Given the description of an element on the screen output the (x, y) to click on. 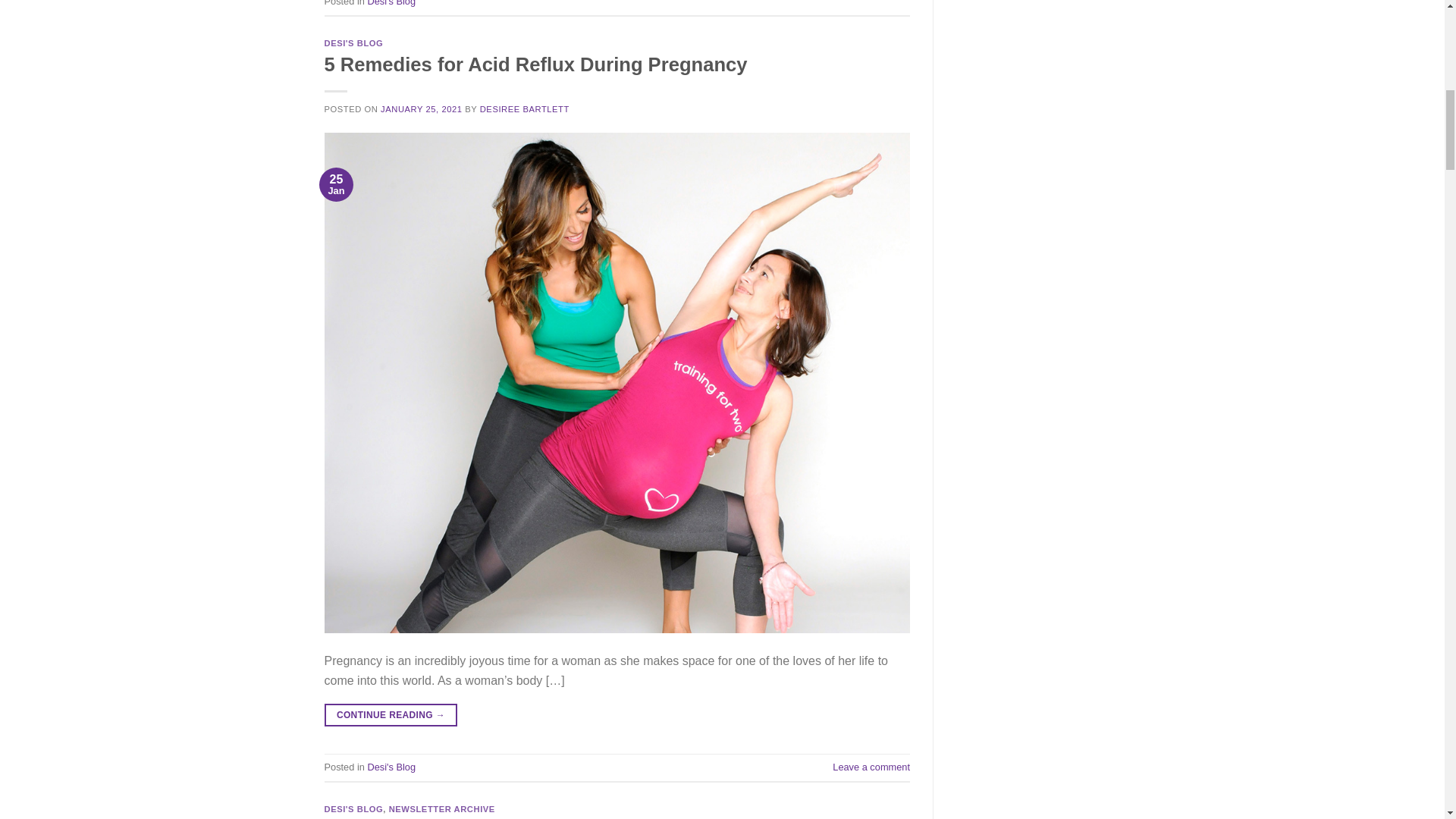
Desi's Blog (390, 767)
JANUARY 25, 2021 (420, 108)
DESI'S BLOG (354, 42)
DESI'S BLOG (354, 809)
DESIREE BARTLETT (524, 108)
NEWSLETTER ARCHIVE (441, 809)
5 Remedies for Acid Reflux During Pregnancy (536, 64)
Leave a comment (871, 767)
Desi's Blog (390, 3)
